Given the description of an element on the screen output the (x, y) to click on. 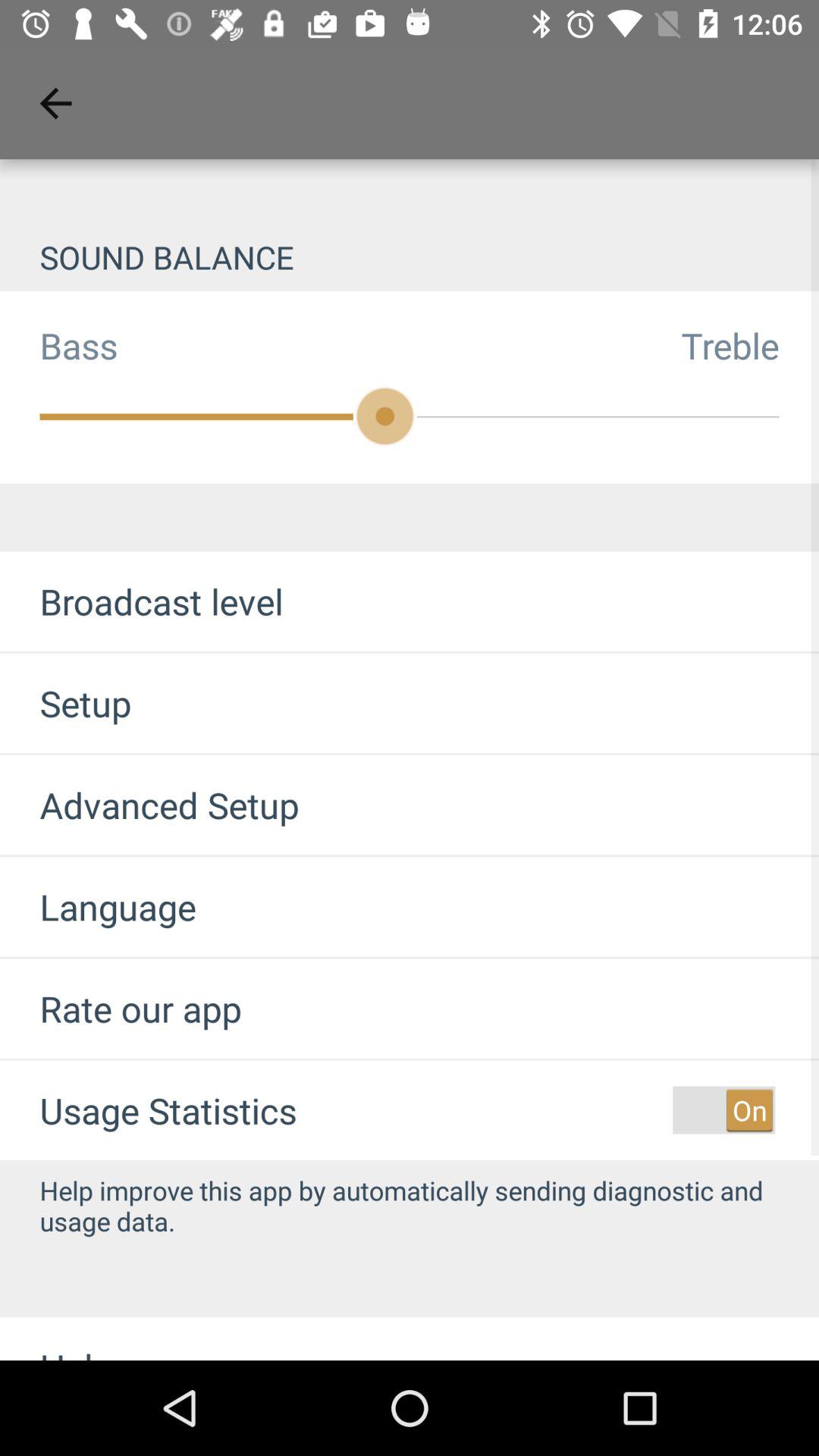
select the item above the help improve this (723, 1110)
